Given the description of an element on the screen output the (x, y) to click on. 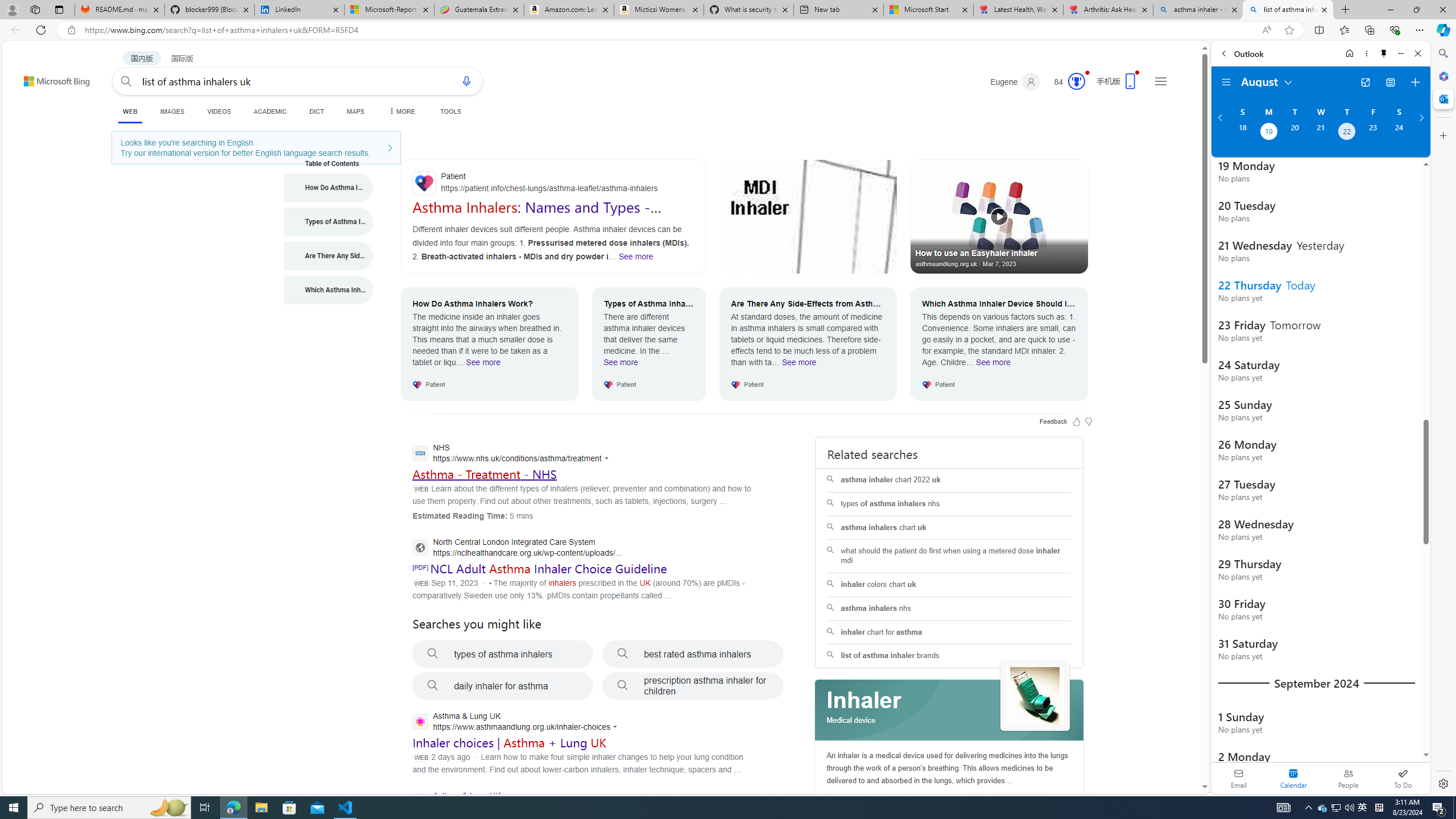
NCL Adult Asthma Inhaler Choice Guideline (547, 568)
Class: spl_logobg (949, 710)
inhaler colors chart uk (949, 584)
How Do Asthma Inhalers Work? (328, 187)
Asthma & Lung UK (513, 802)
prescription asthma inhaler for children (692, 685)
